Given the description of an element on the screen output the (x, y) to click on. 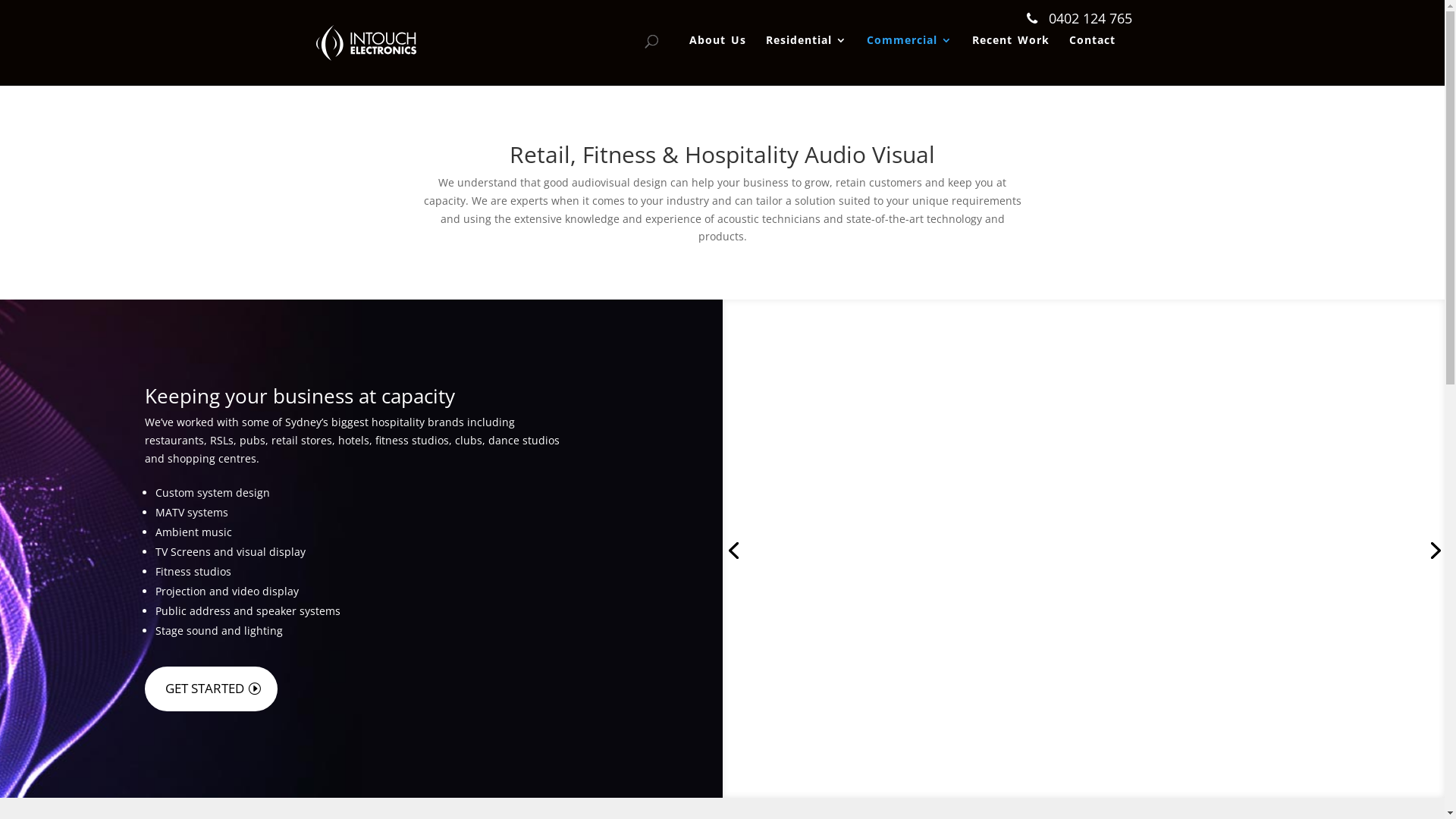
About Us Element type: text (716, 54)
1 Element type: text (1044, 767)
0402 124 765 Element type: text (1079, 18)
GET STARTED Element type: text (210, 688)
3 Element type: text (1070, 767)
Commercial Element type: text (908, 54)
Recent Work Element type: text (1010, 54)
4 Element type: text (1082, 767)
Residential Element type: text (806, 54)
Contact Element type: text (1092, 54)
6 Element type: text (1108, 767)
7 Element type: text (1121, 767)
5 Element type: text (1095, 767)
2 Element type: text (1057, 767)
